Given the description of an element on the screen output the (x, y) to click on. 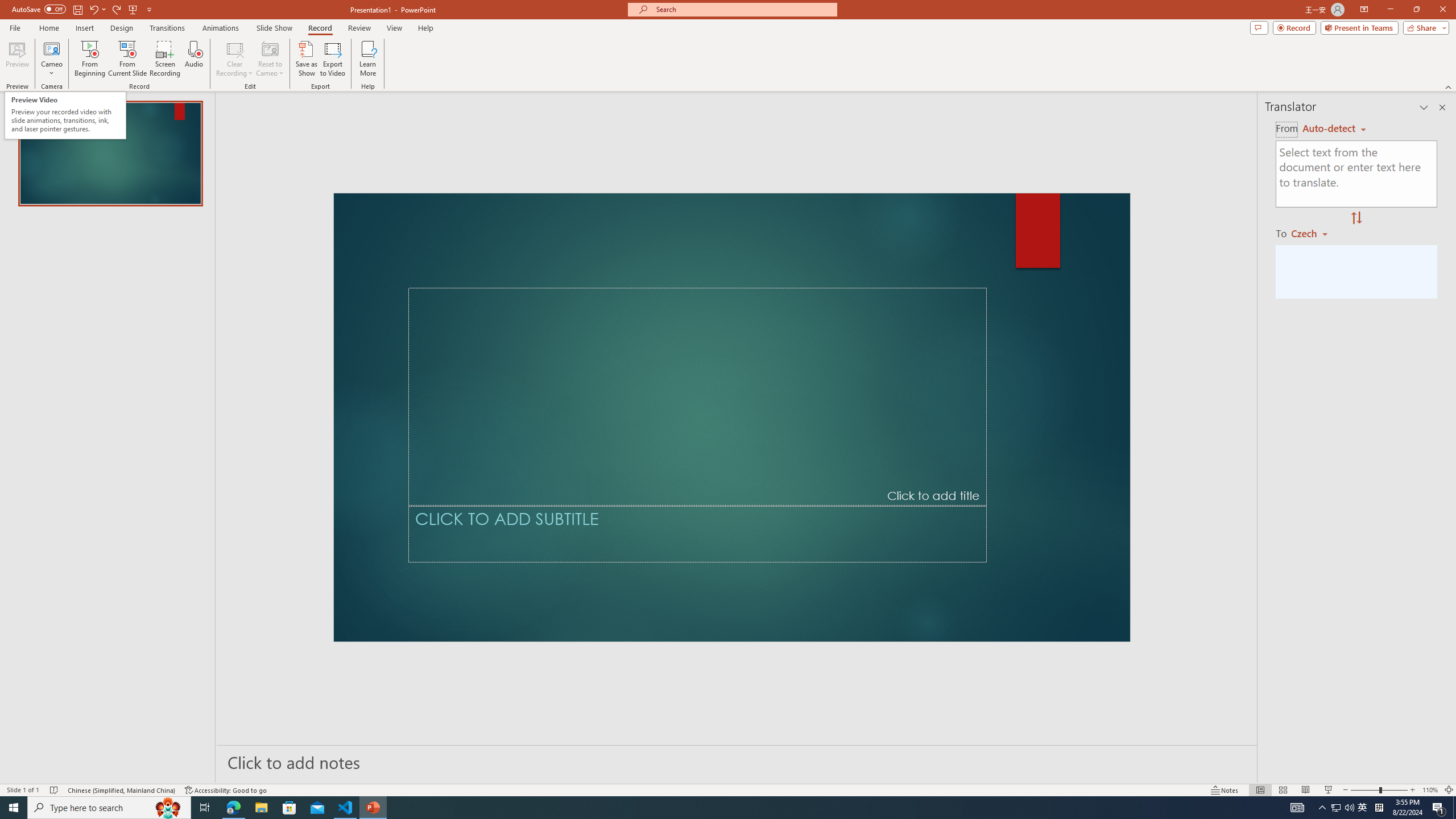
Subtitle TextBox (697, 533)
Slide Notes (737, 761)
From Beginning... (89, 58)
